Given the description of an element on the screen output the (x, y) to click on. 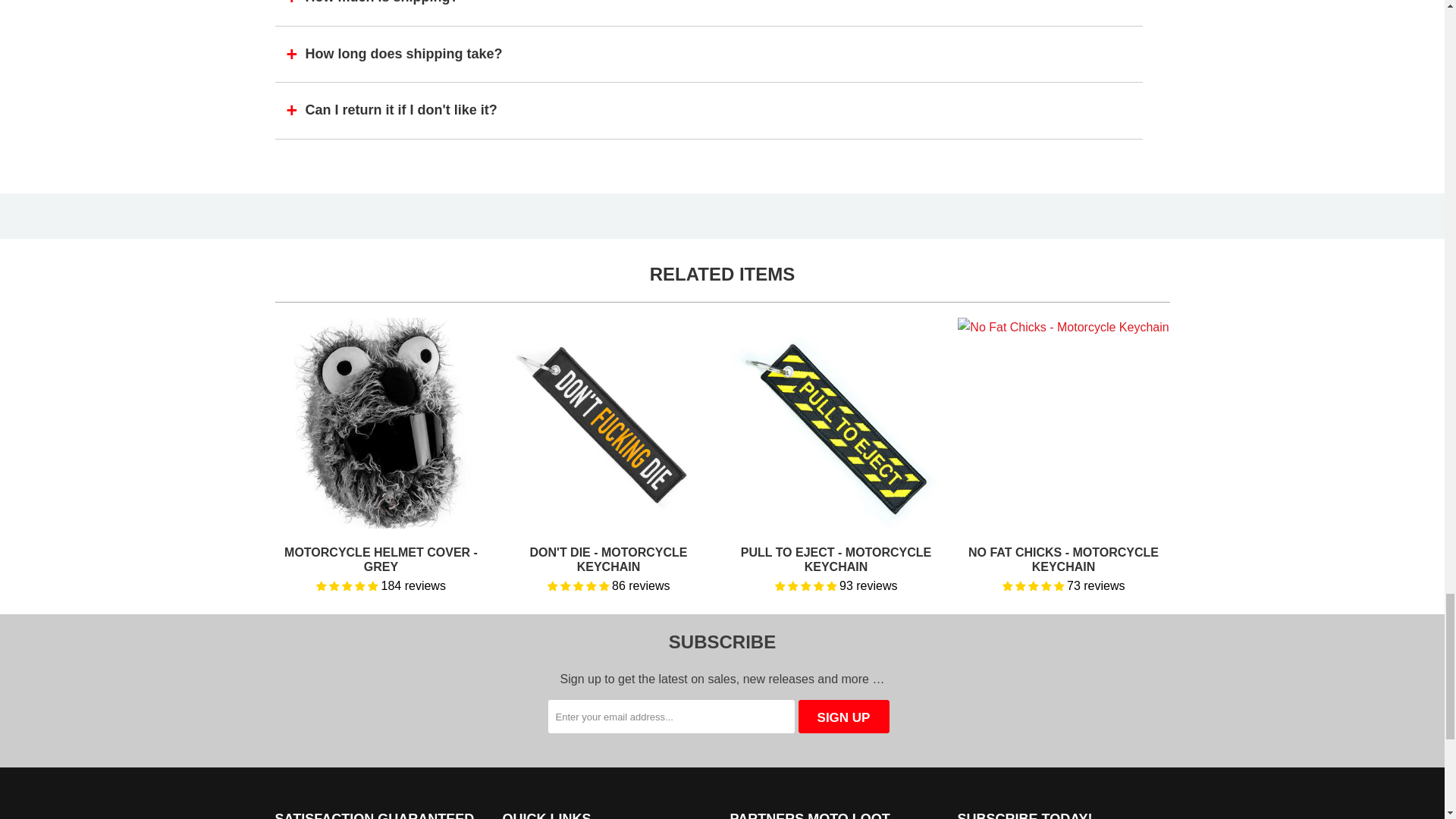
Sign Up (842, 716)
